Given the description of an element on the screen output the (x, y) to click on. 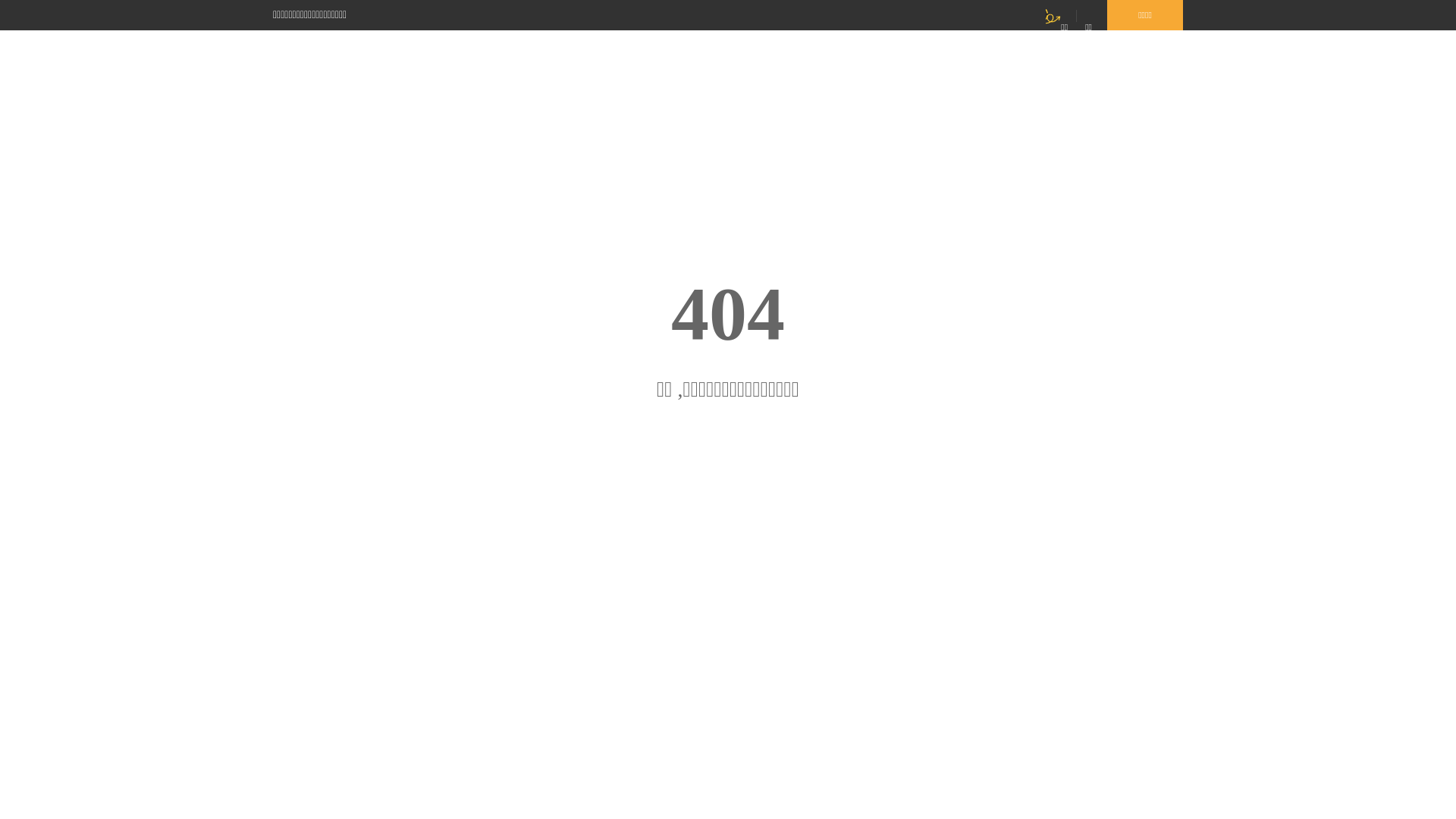
  Element type: text (1166, 67)
